Given the description of an element on the screen output the (x, y) to click on. 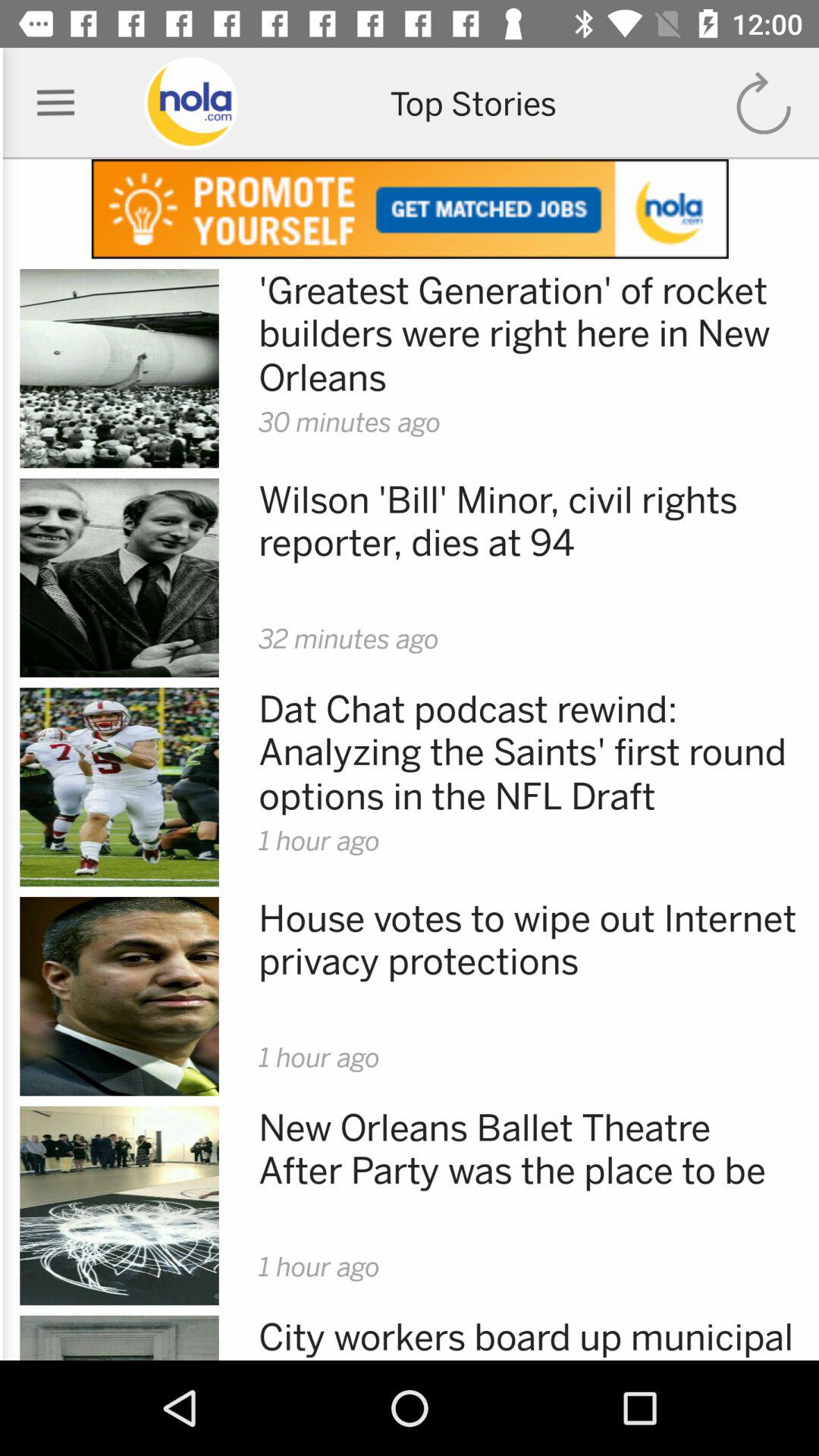
open advertisement (409, 208)
